Given the description of an element on the screen output the (x, y) to click on. 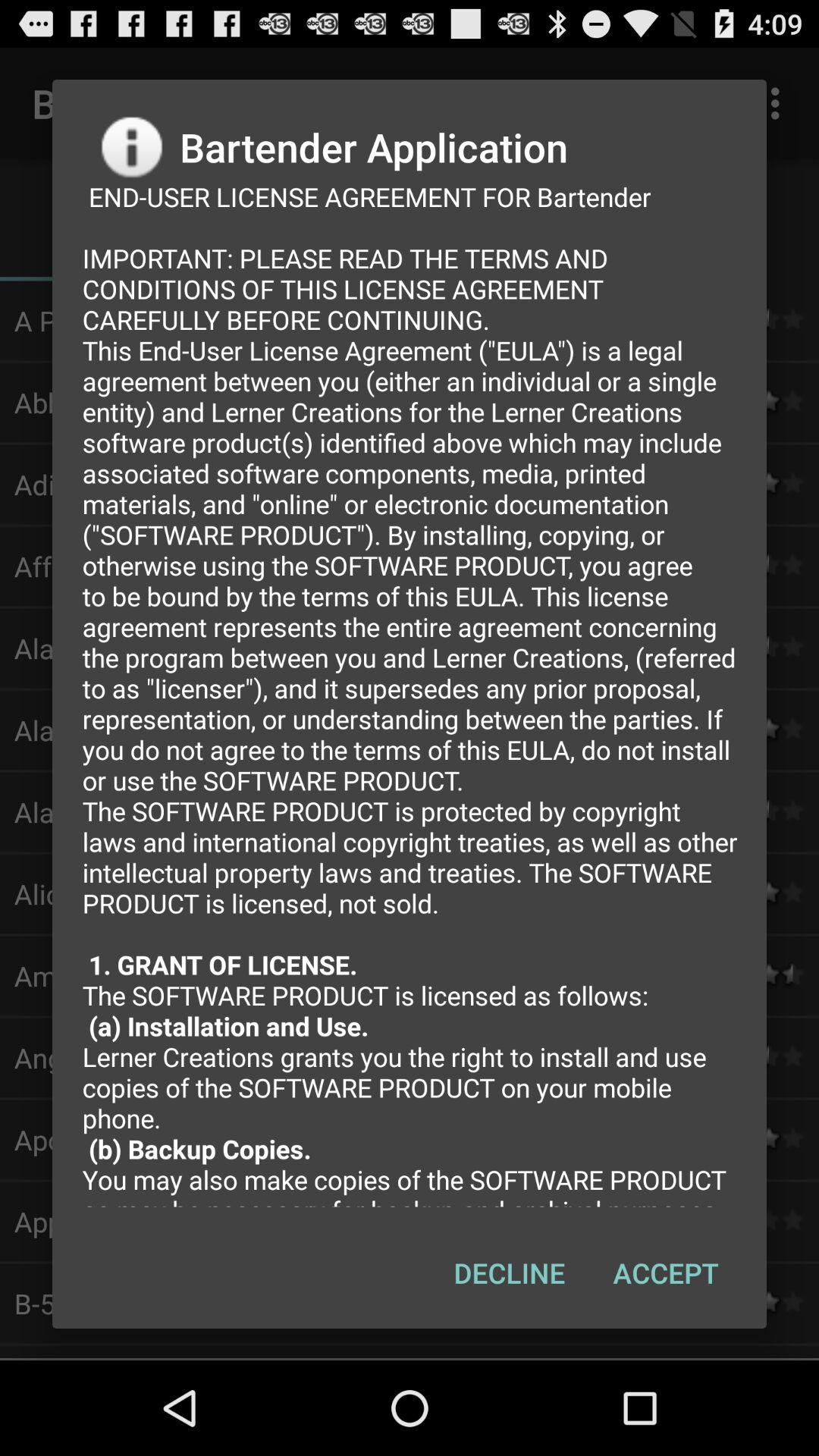
flip to the accept button (665, 1272)
